Given the description of an element on the screen output the (x, y) to click on. 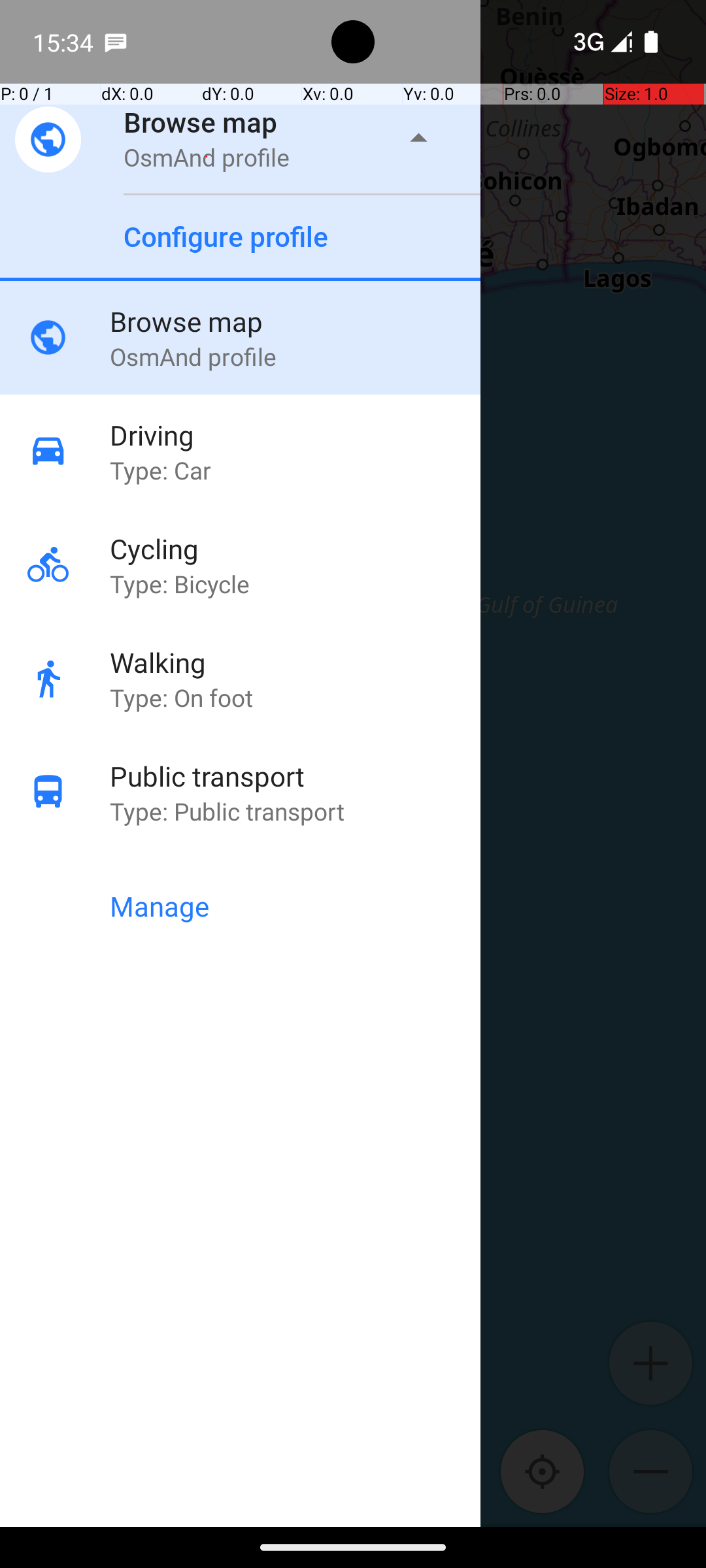
Browse map Element type: android.widget.TextView (200, 121)
OsmAnd profile Element type: android.widget.TextView (206, 156)
Configure profile Element type: android.widget.TextView (225, 235)
Driving Element type: android.widget.TextView (294, 434)
Type: Car Element type: android.widget.TextView (294, 469)
Cycling Element type: android.widget.TextView (294, 548)
Type: Bicycle Element type: android.widget.TextView (294, 583)
Walking Element type: android.widget.TextView (294, 661)
Type: On foot Element type: android.widget.TextView (294, 697)
Public transport Element type: android.widget.TextView (294, 775)
Type: Public transport Element type: android.widget.TextView (294, 810)
Manage Element type: android.widget.TextView (294, 905)
